Given the description of an element on the screen output the (x, y) to click on. 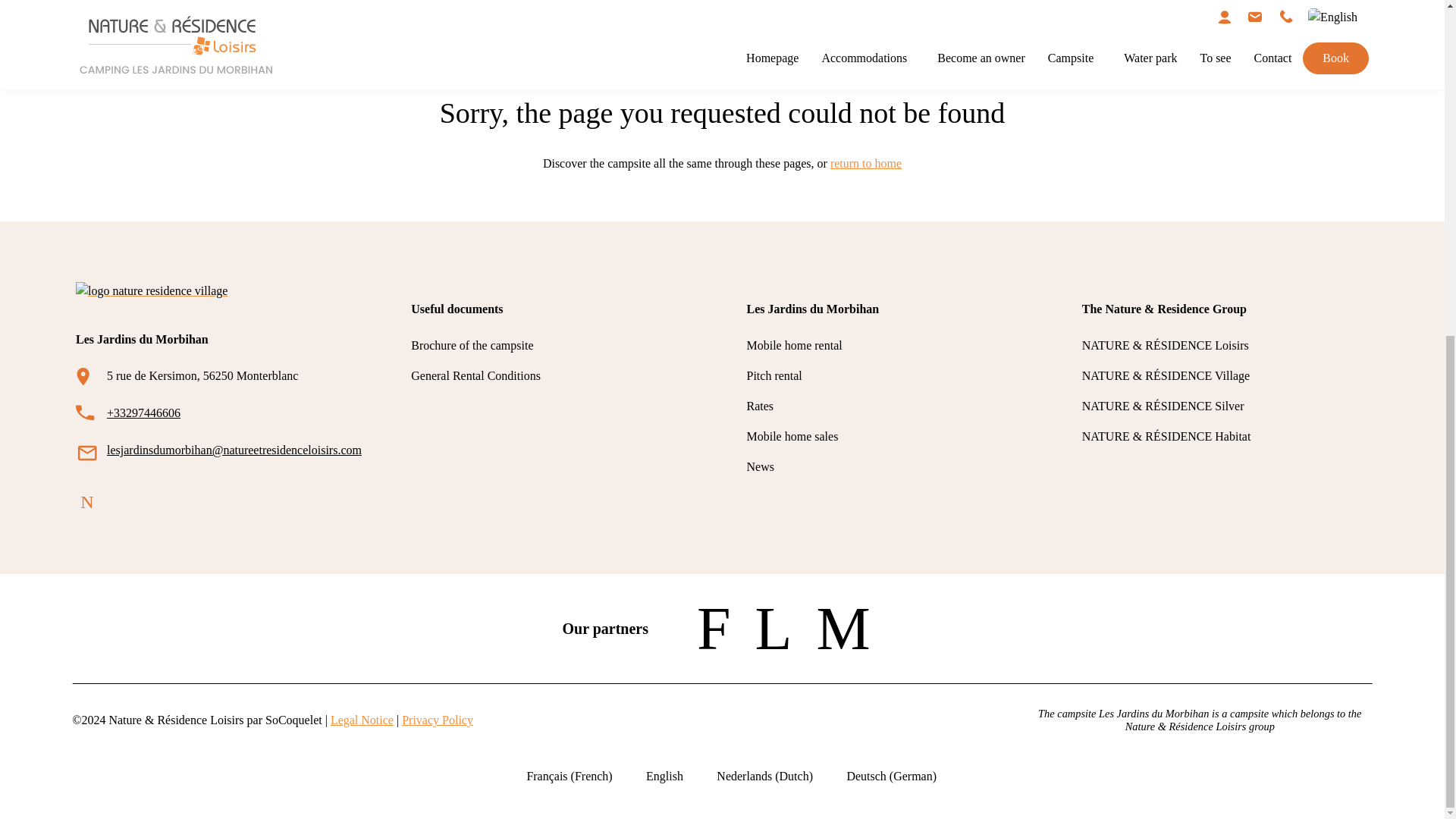
Rates (759, 405)
Pitch rental (773, 375)
Legal Notice (361, 719)
4 stars campsite Morhiban (208, 62)
return to home (865, 163)
Mobile home sales (791, 436)
Mobile home rental (793, 345)
General Rental Conditions (475, 375)
return to home (865, 163)
News (759, 466)
